Given the description of an element on the screen output the (x, y) to click on. 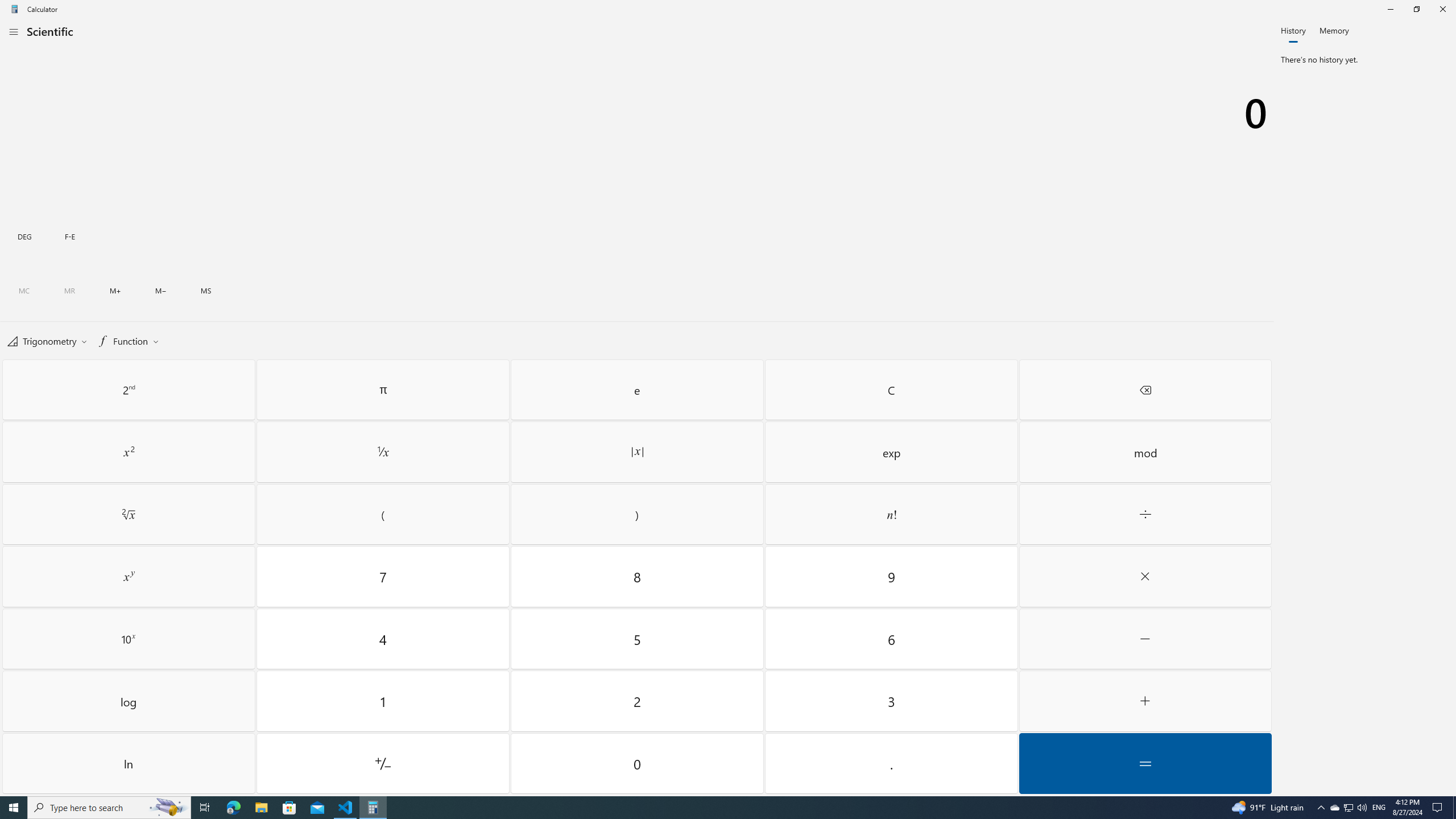
Clear (890, 389)
Pi (382, 389)
Four (382, 638)
Running applications (706, 807)
Close Calculator (1442, 9)
Visual Studio Code - 1 running window (345, 807)
Seven (382, 576)
Clear all memory (24, 290)
Restore Calculator (1416, 9)
Open Navigation (13, 31)
Ten to the exponent (128, 638)
